Given the description of an element on the screen output the (x, y) to click on. 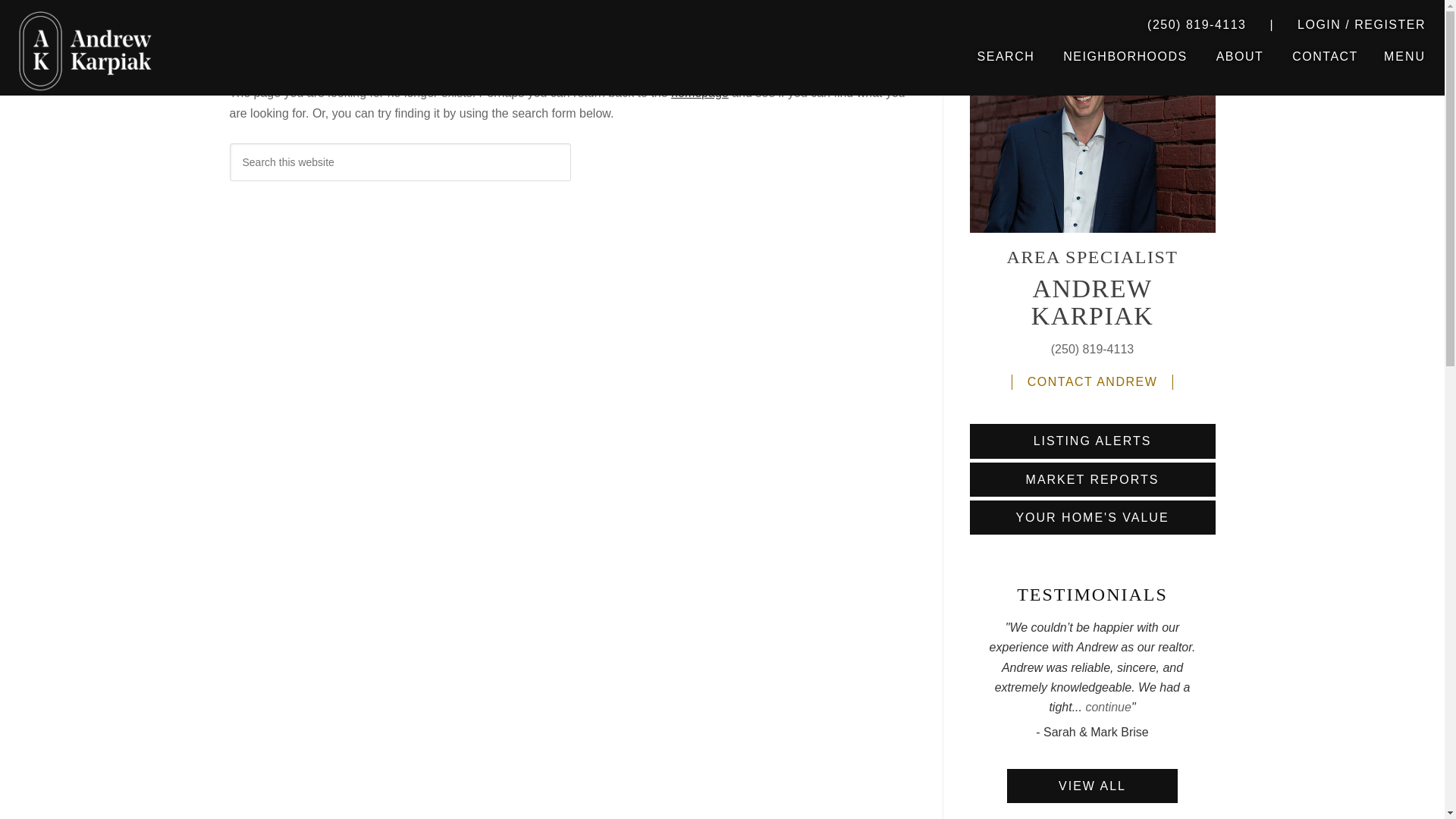
ABOUT (1240, 56)
MENU (1404, 56)
CONTACT ANDREW (1092, 381)
homepage (700, 92)
CONTACT (1324, 56)
NEIGHBORHOODS (1125, 56)
SEARCH (1005, 56)
